Given the description of an element on the screen output the (x, y) to click on. 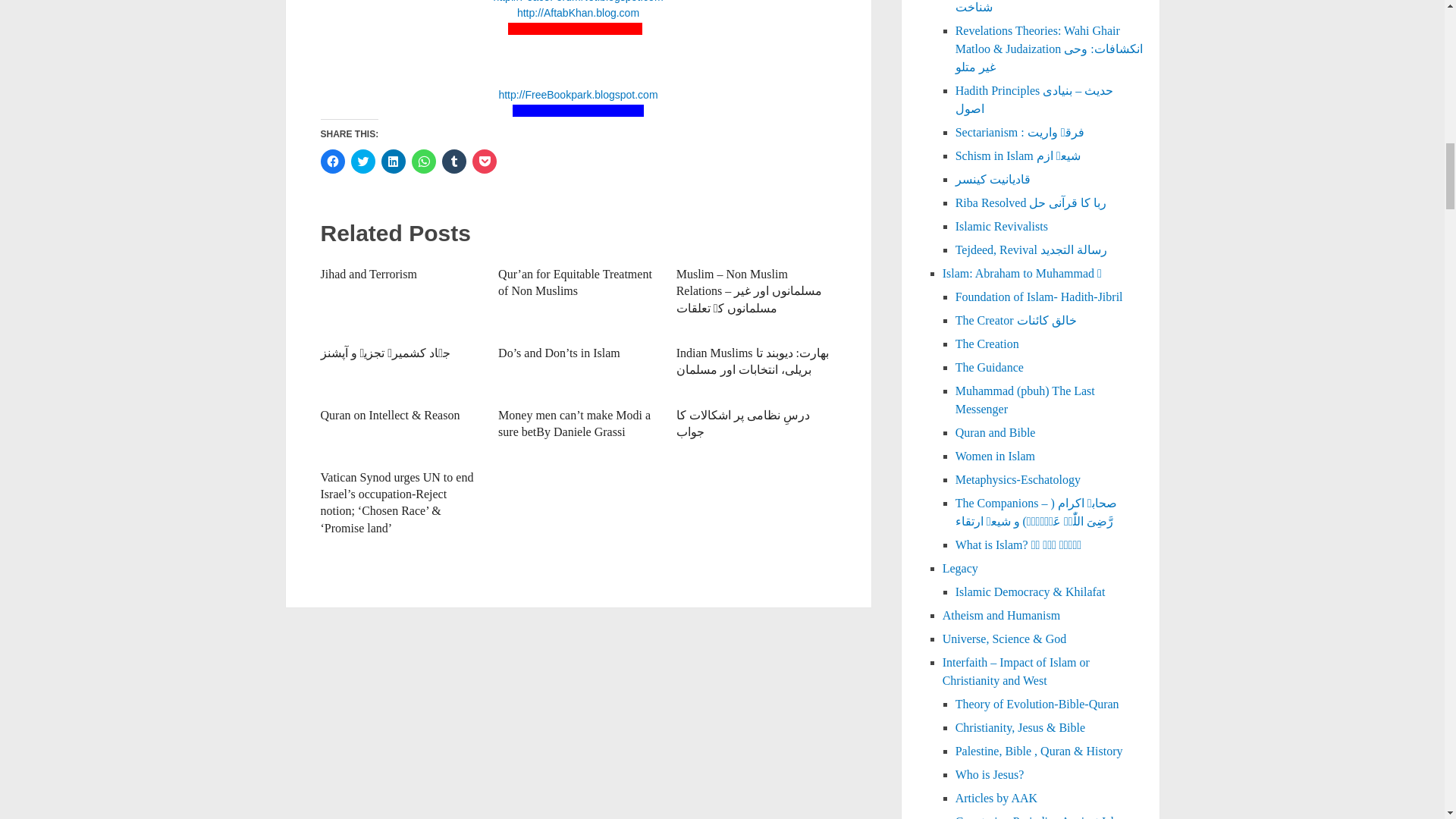
Click to share on Twitter (362, 161)
Click to share on Facebook (331, 161)
Click to share on LinkedIn (392, 161)
Jihad and Terrorism (368, 273)
Click to share on Pocket (483, 161)
Click to share on Tumblr (453, 161)
Click to share on WhatsApp (422, 161)
